Given the description of an element on the screen output the (x, y) to click on. 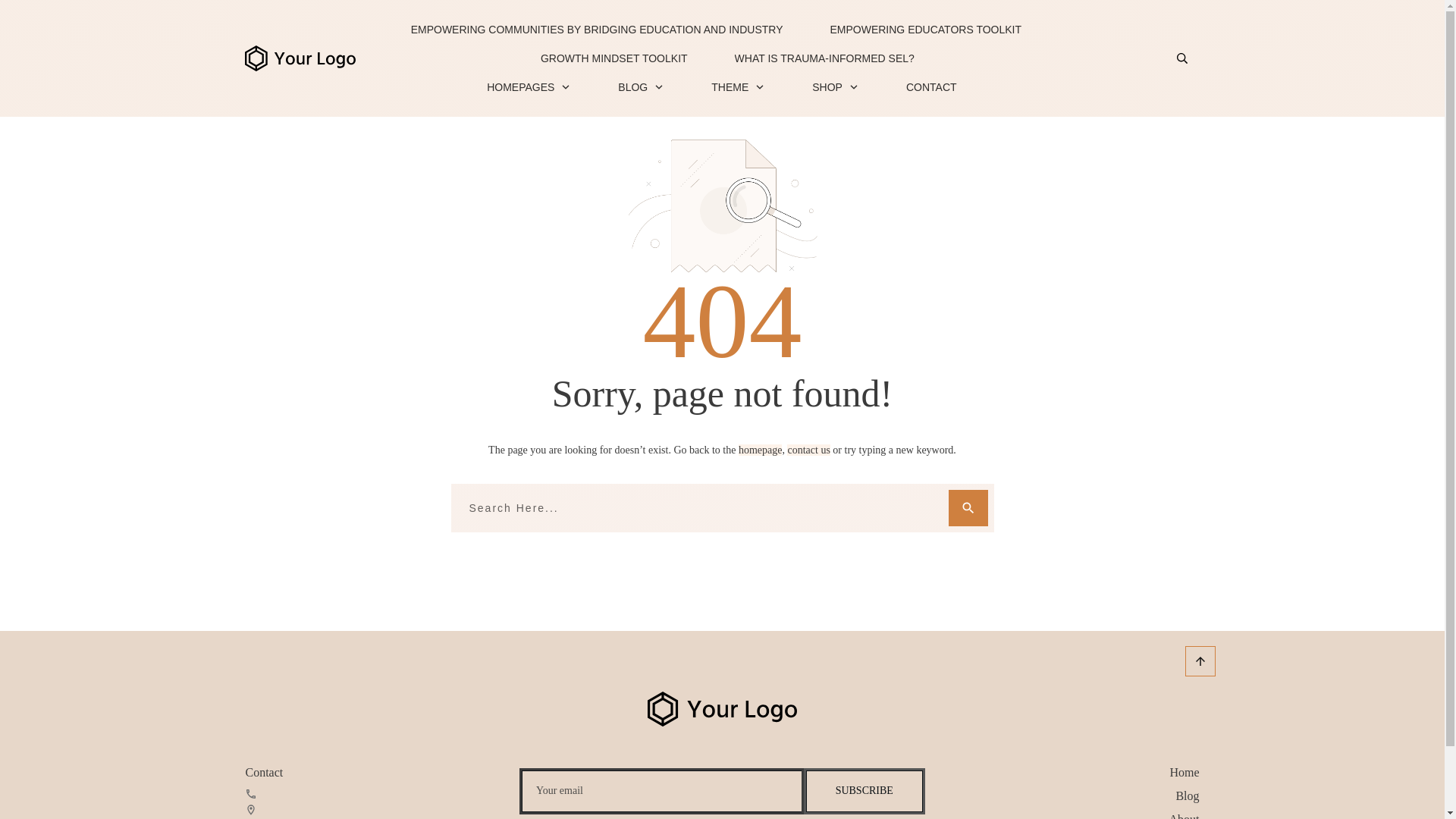
CONTACT (930, 86)
Home (1183, 771)
contact us (808, 449)
homepage (760, 449)
HOMEPAGES (528, 86)
BLOG (640, 86)
SHOP (835, 86)
EMPOWERING EDUCATORS TOOLKIT (925, 29)
EMPOWERING COMMUNITIES BY BRIDGING EDUCATION AND INDUSTRY (596, 29)
GROWTH MINDSET TOOLKIT (613, 57)
